Given the description of an element on the screen output the (x, y) to click on. 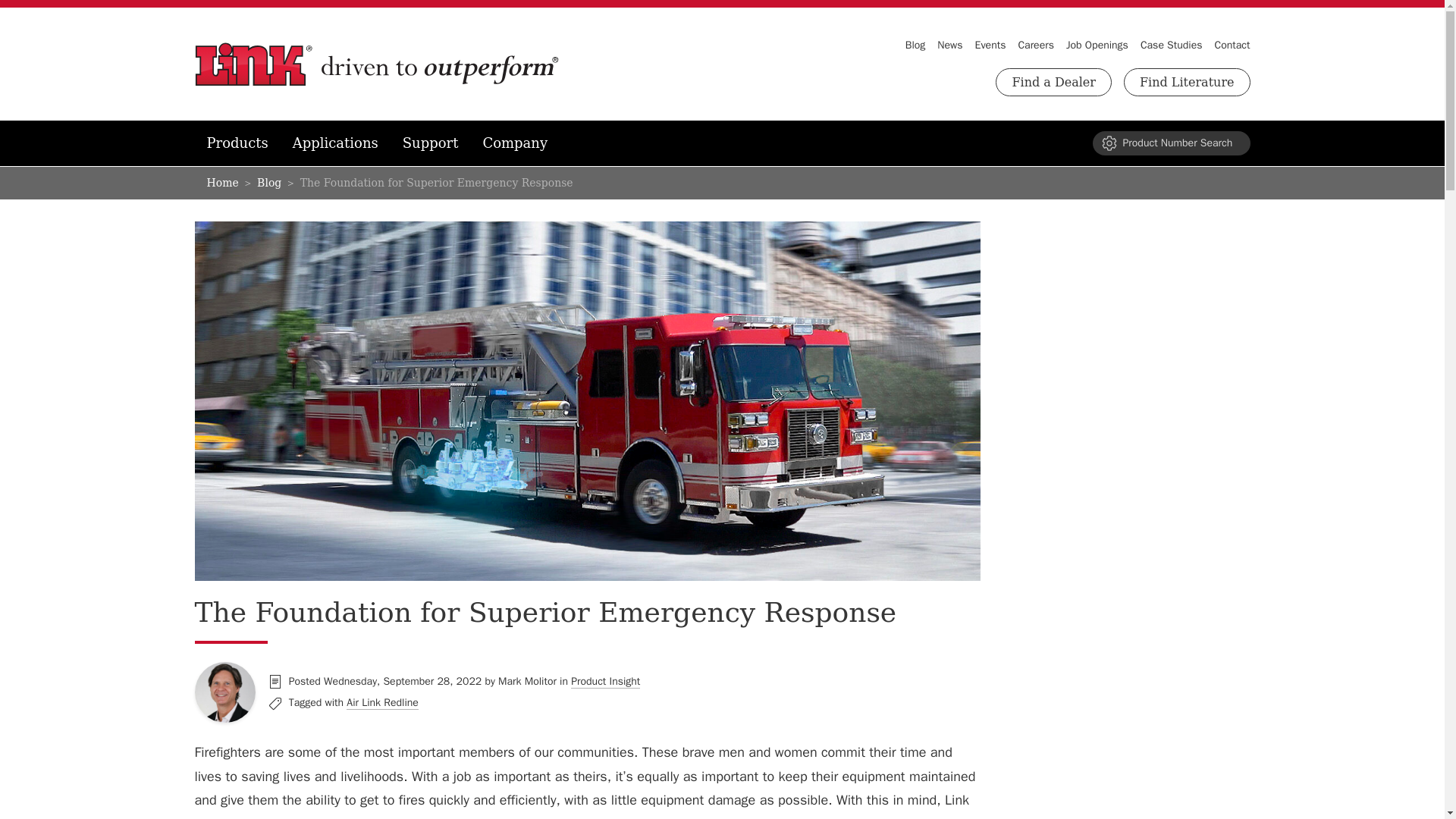
Contact (1232, 45)
Find Literature (1187, 81)
Find a Dealer (1053, 81)
Blog (915, 45)
Case Studies (1171, 45)
Products (236, 143)
News (949, 45)
Events (990, 45)
Careers (1035, 45)
Job Openings (1096, 45)
